Given the description of an element on the screen output the (x, y) to click on. 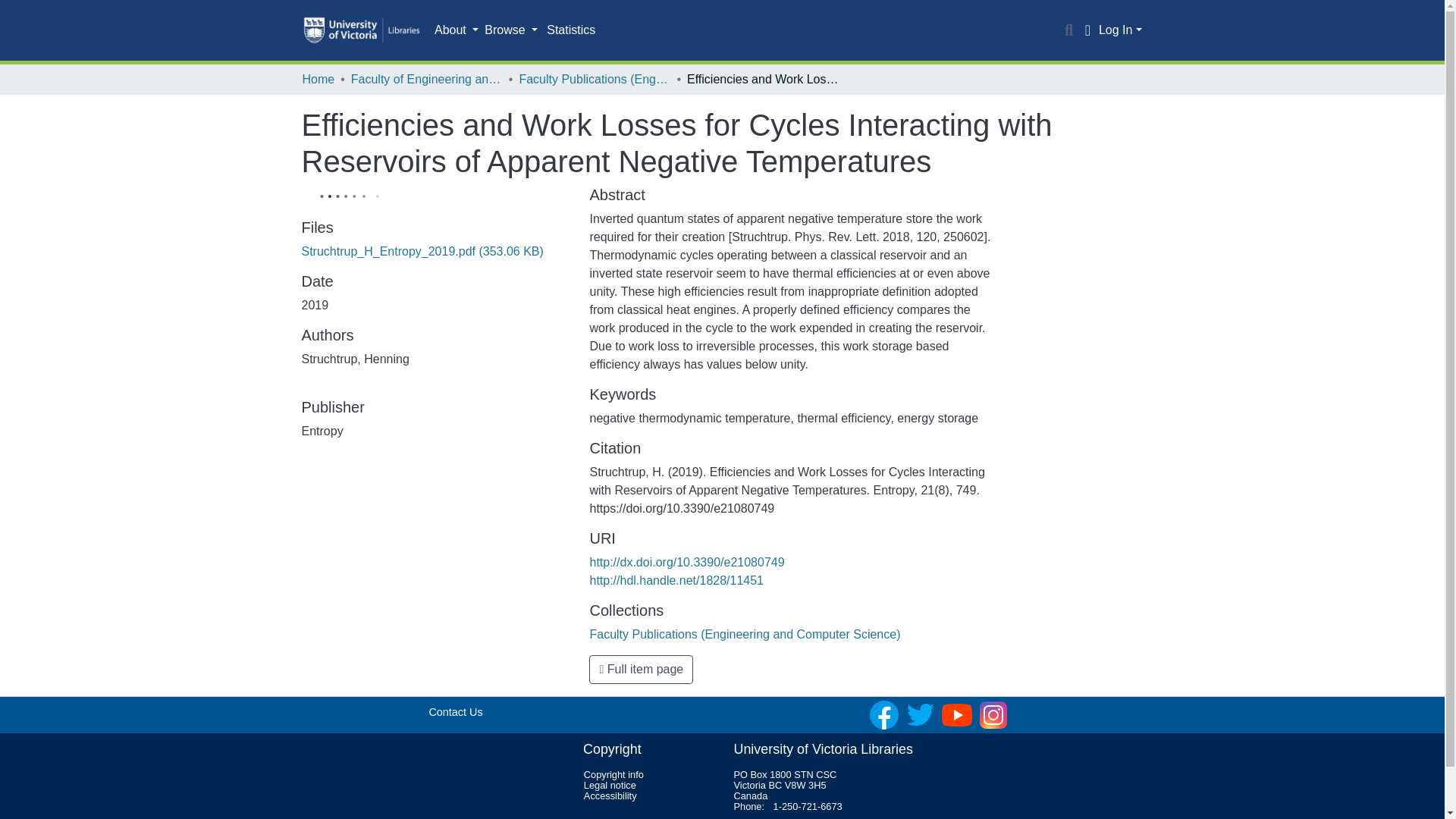
Browse (510, 30)
Statistics (570, 30)
Contact Us (454, 711)
Statistics (570, 30)
Search (1068, 30)
Faculty of Engineering and Computer Science (426, 79)
Language switch (1087, 30)
Log In (1119, 29)
Full item page (641, 669)
Home (317, 79)
